Given the description of an element on the screen output the (x, y) to click on. 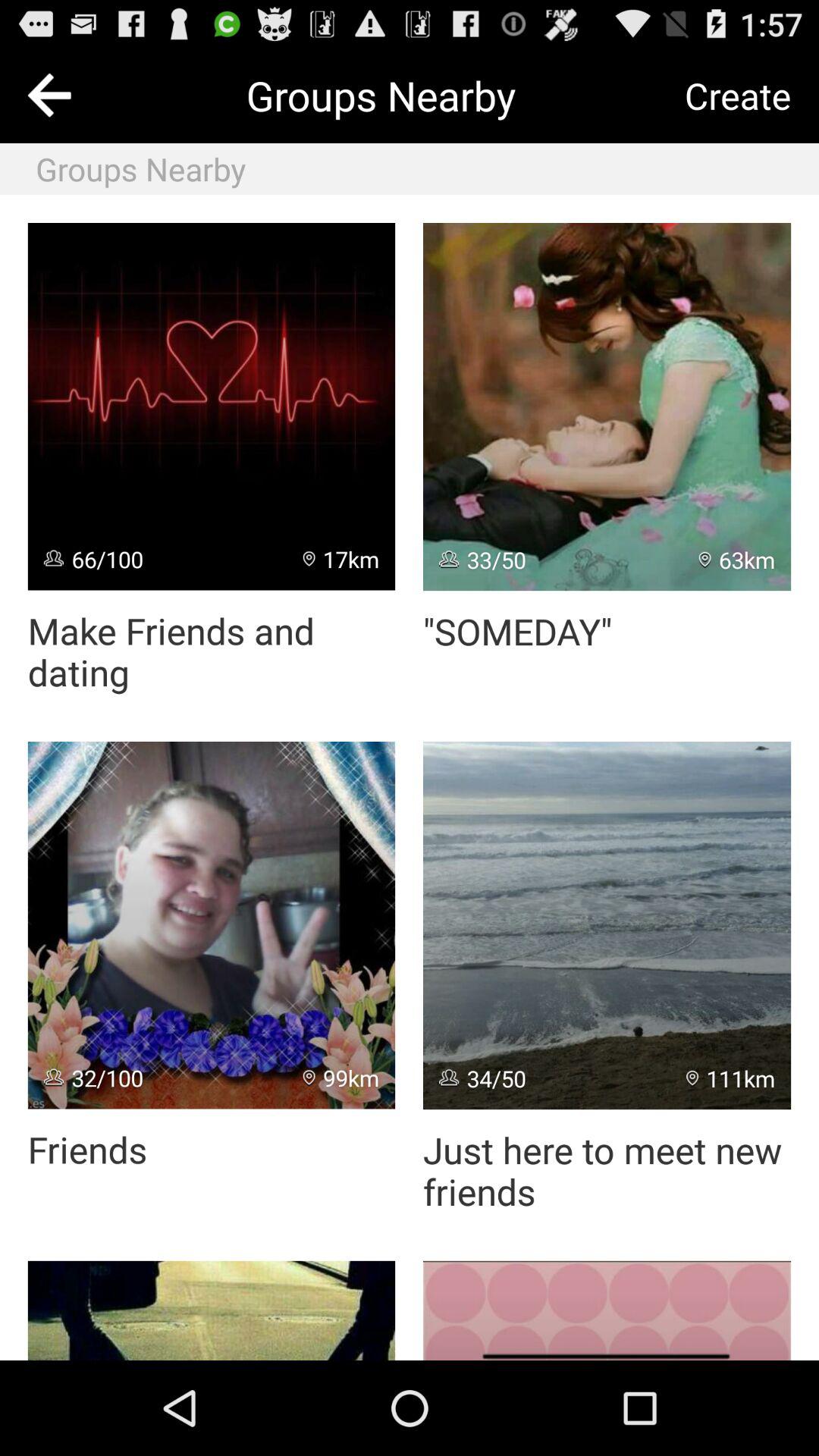
scroll to "someday" (517, 630)
